Given the description of an element on the screen output the (x, y) to click on. 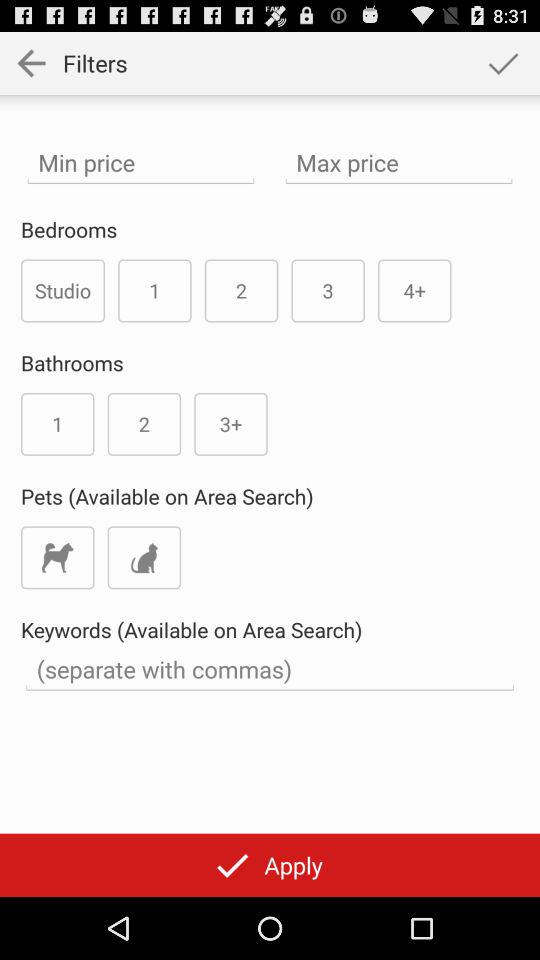
turn on the item next to filters icon (503, 62)
